Given the description of an element on the screen output the (x, y) to click on. 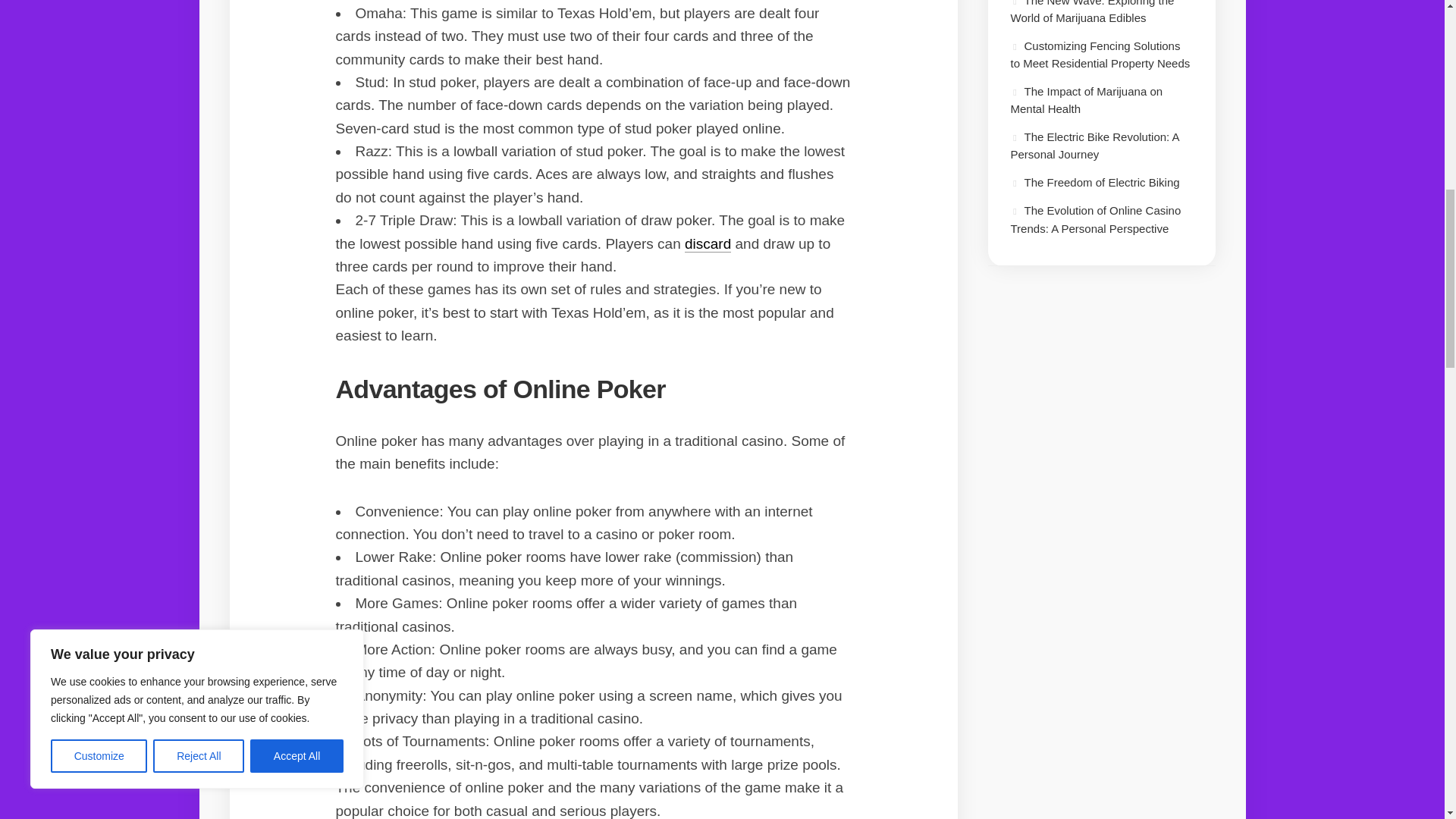
discard (707, 243)
